Given the description of an element on the screen output the (x, y) to click on. 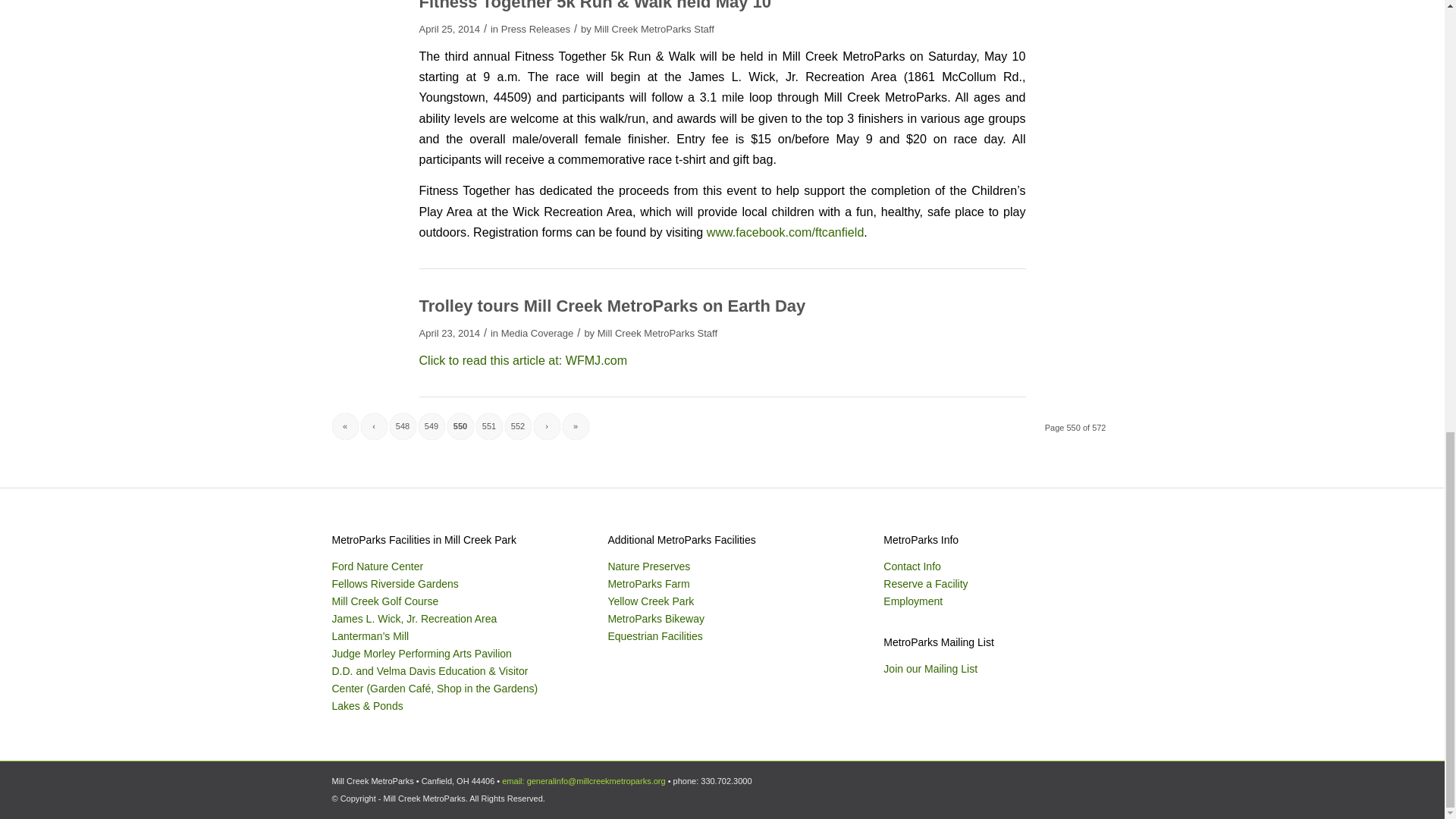
Posts by Mill Creek MetroParks Staff (653, 29)
This external link will open in a new window (785, 232)
Posts by Mill Creek MetroParks Staff (656, 333)
